Given the description of an element on the screen output the (x, y) to click on. 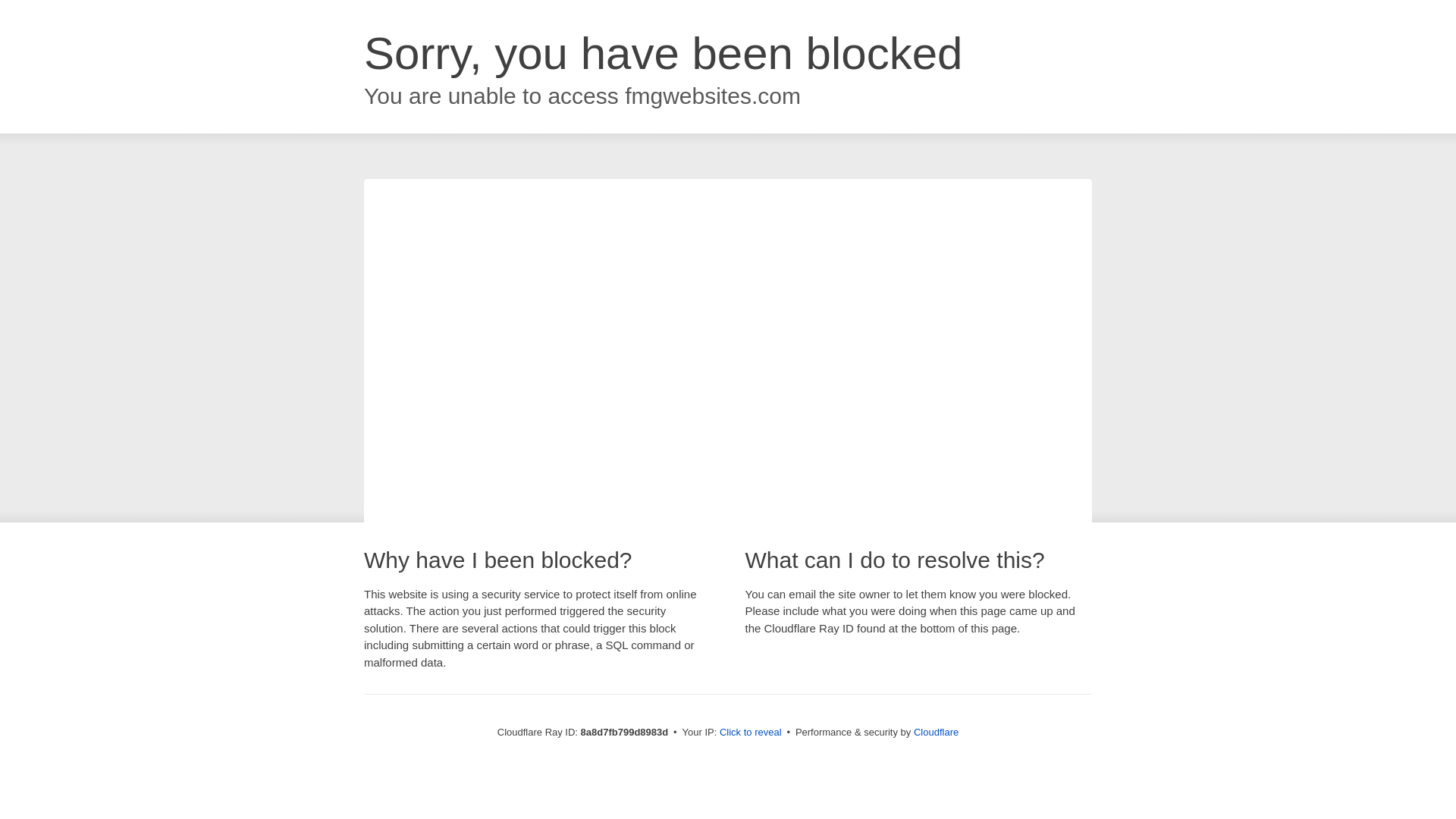
Cloudflare (936, 731)
Click to reveal (750, 732)
